Given the description of an element on the screen output the (x, y) to click on. 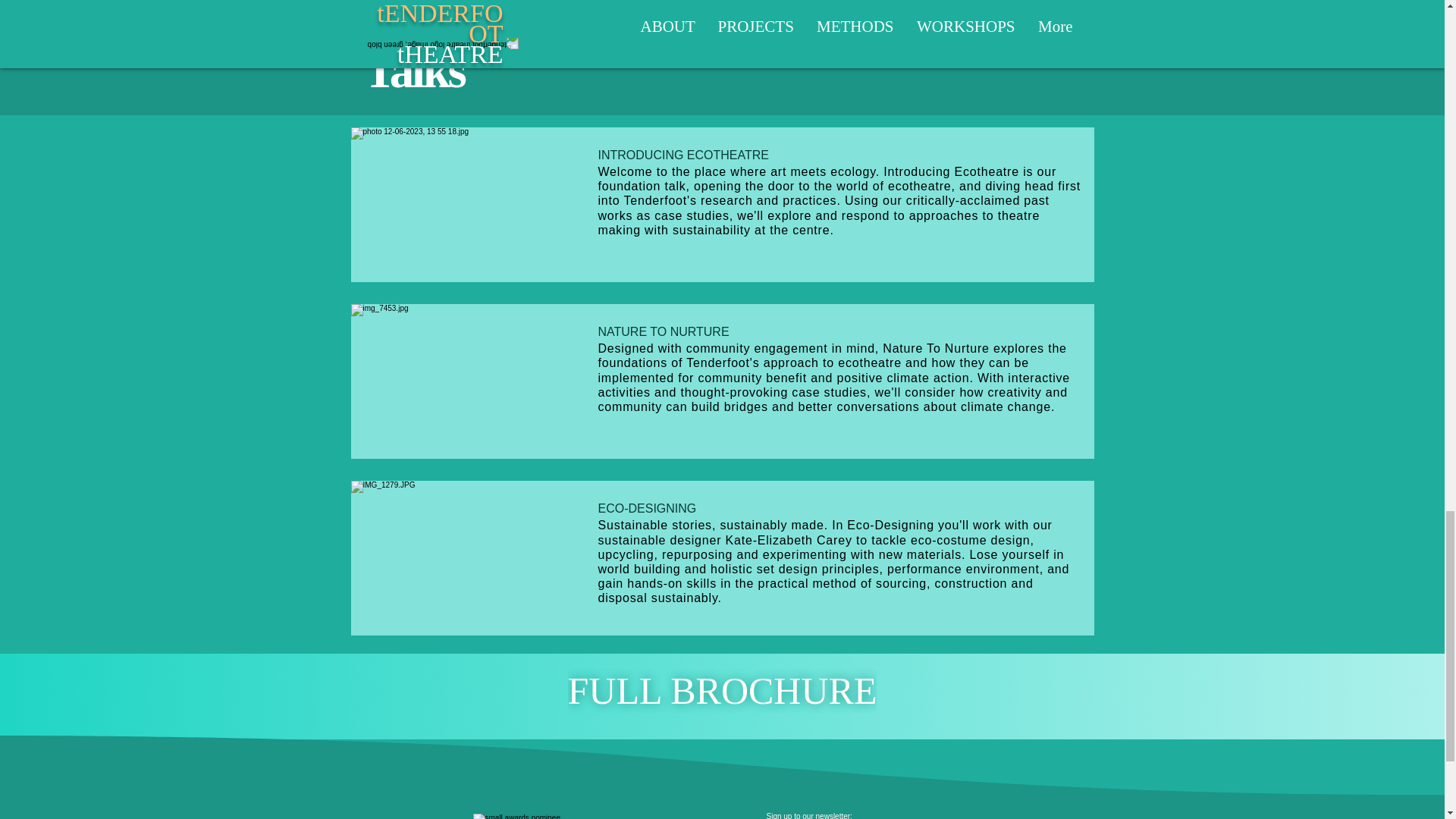
A822ABFB-4A29-49EF-A5DA-4A66C4A088FD.png (534, 816)
FULL BROCHURE (721, 690)
